Given the description of an element on the screen output the (x, y) to click on. 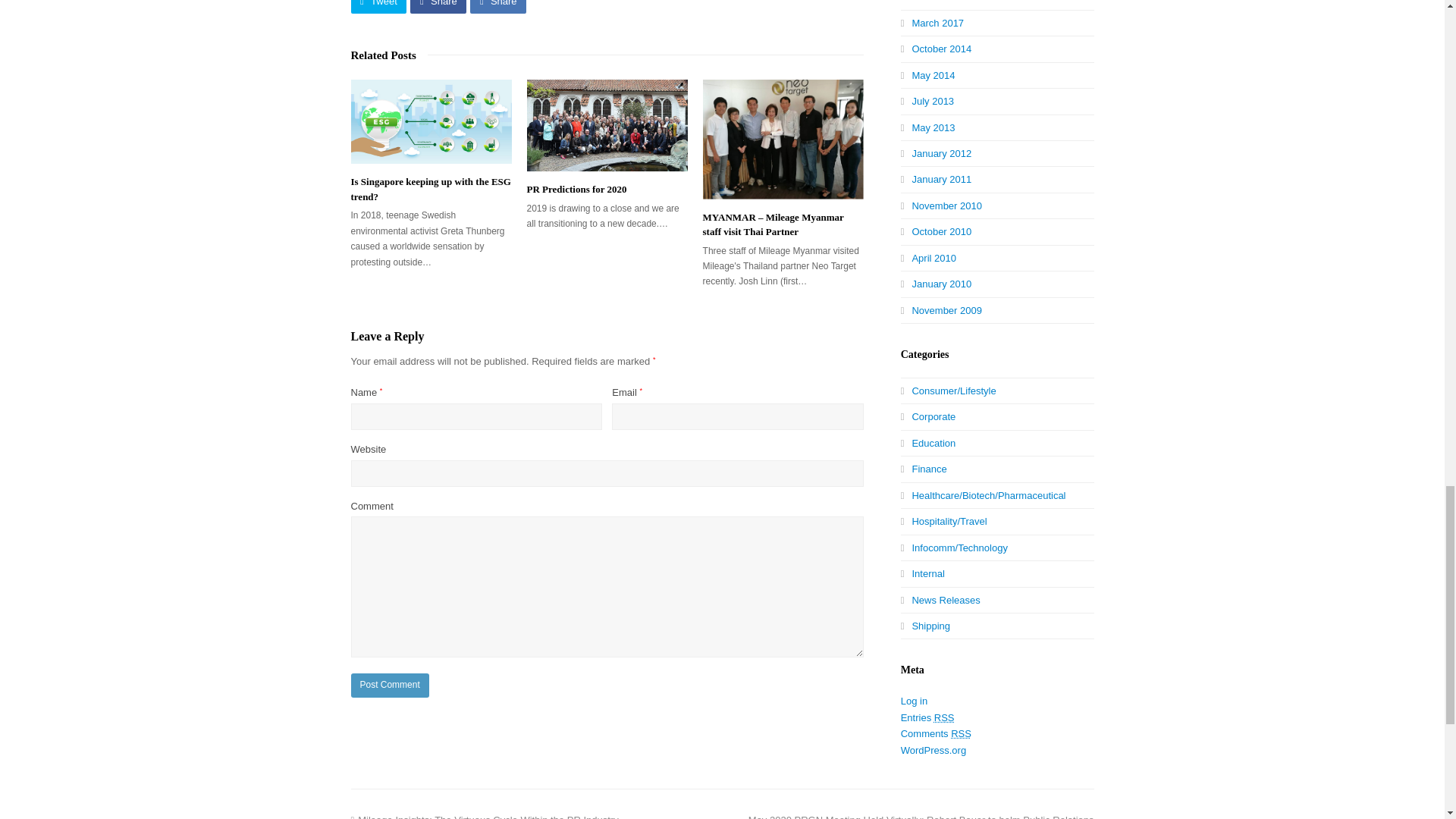
Really Simple Syndication (944, 717)
Tweet (378, 6)
Share (437, 6)
PR Predictions for 2020 (607, 125)
Share on Twitter (378, 6)
Post Comment (389, 685)
Is Singapore keeping up with the ESG trend? (430, 121)
Is Singapore keeping up with the ESG trend? (430, 189)
Share on Facebook (437, 6)
PR Predictions for 2020 (577, 188)
Post Comment (389, 685)
Share on LinkedIn (497, 6)
PR Predictions for 2020 (577, 188)
Really Simple Syndication (960, 733)
